Given the description of an element on the screen output the (x, y) to click on. 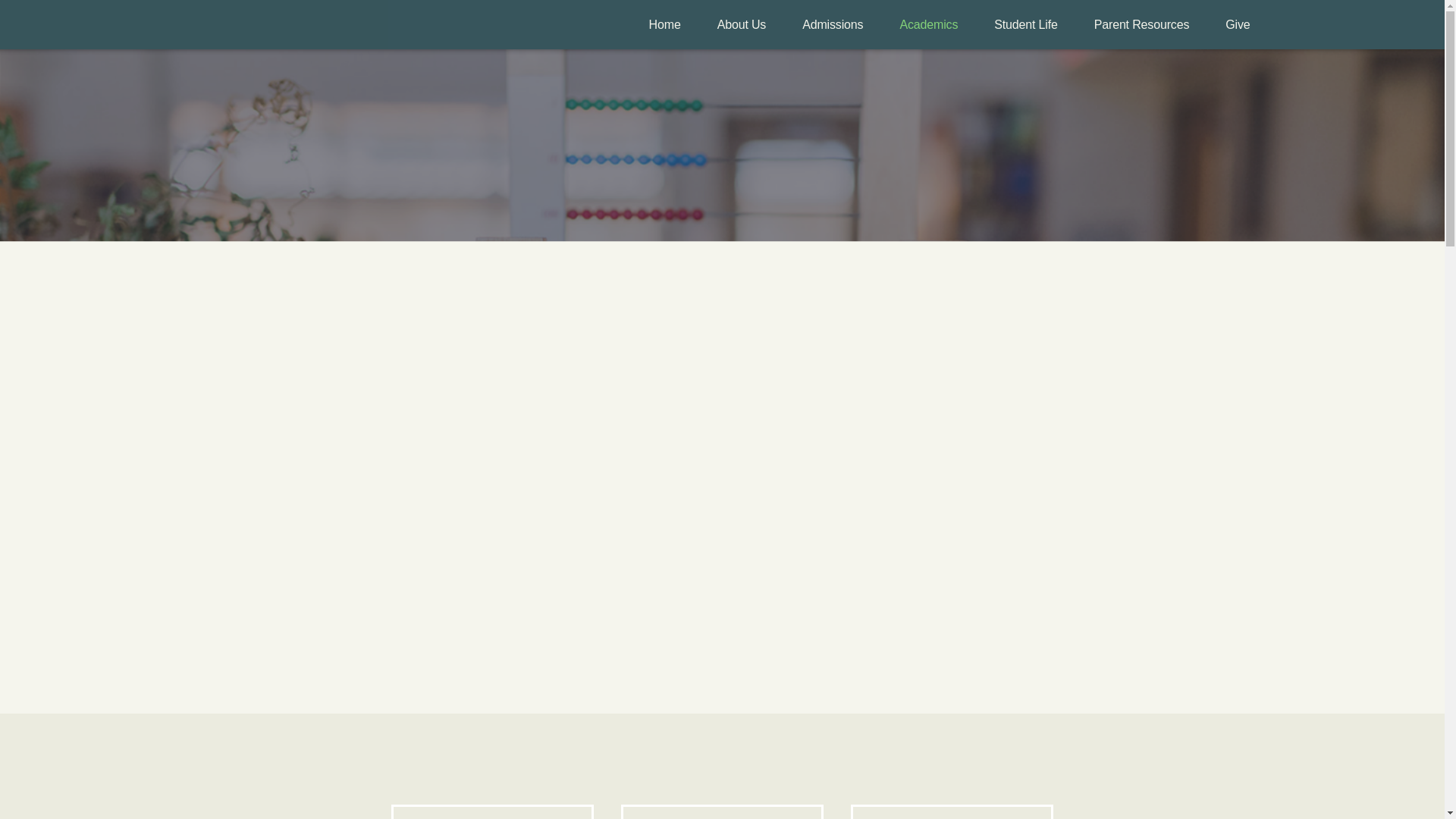
Home (664, 24)
About Us (741, 24)
